Given the description of an element on the screen output the (x, y) to click on. 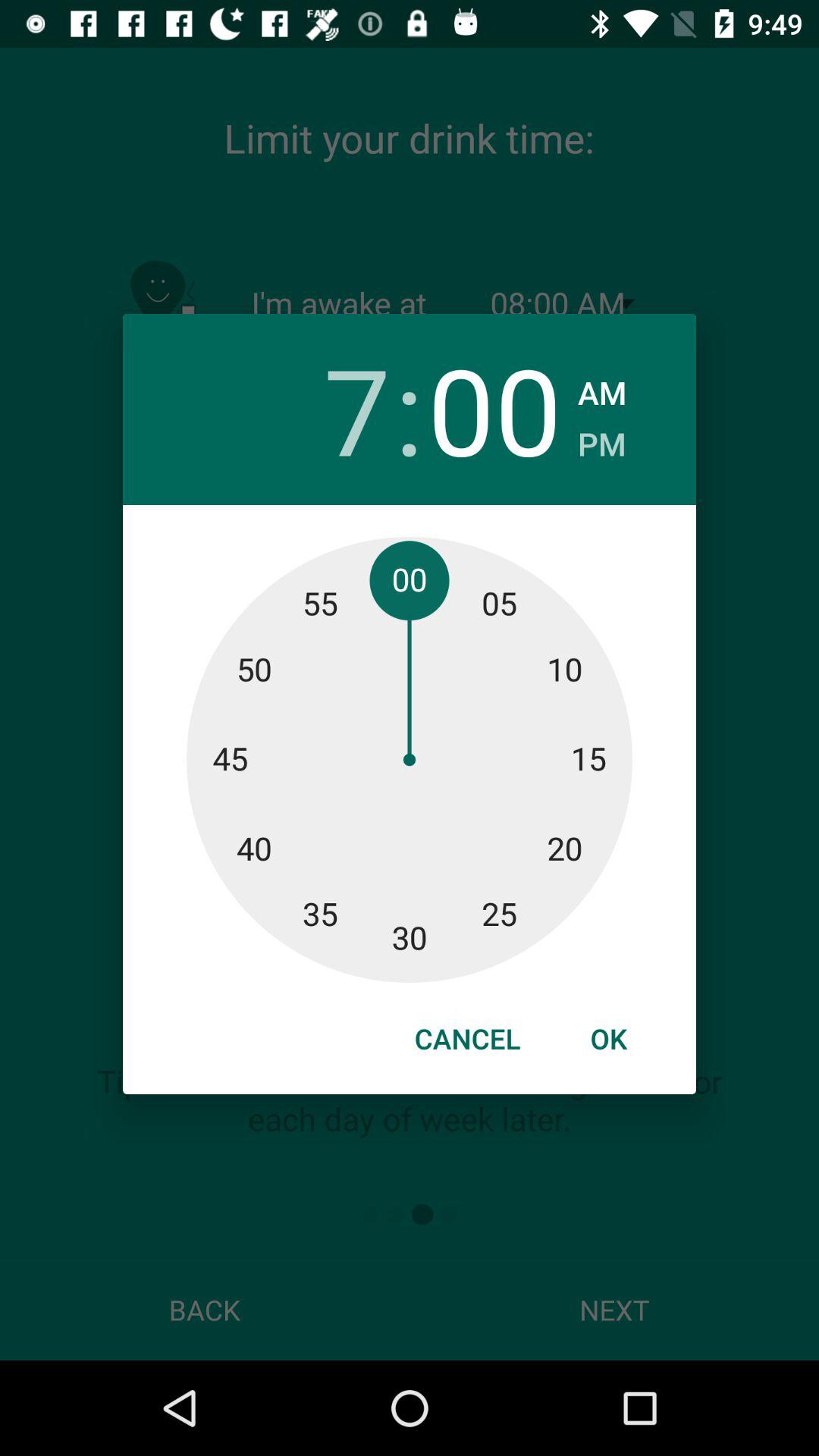
launch item to the left of : icon (323, 408)
